Given the description of an element on the screen output the (x, y) to click on. 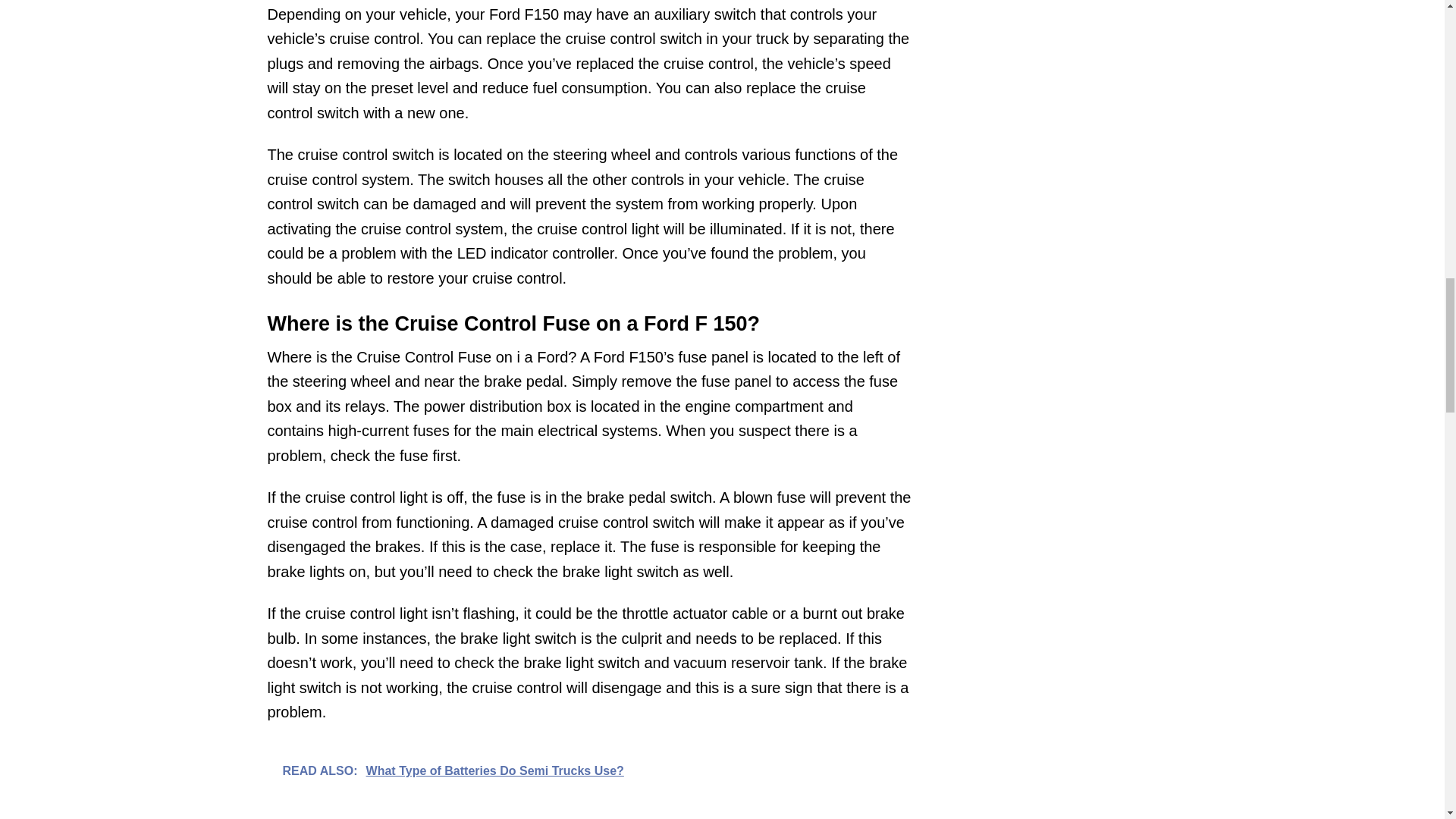
READ ALSO:  What Type of Batteries Do Semi Trucks Use? (588, 769)
